Given the description of an element on the screen output the (x, y) to click on. 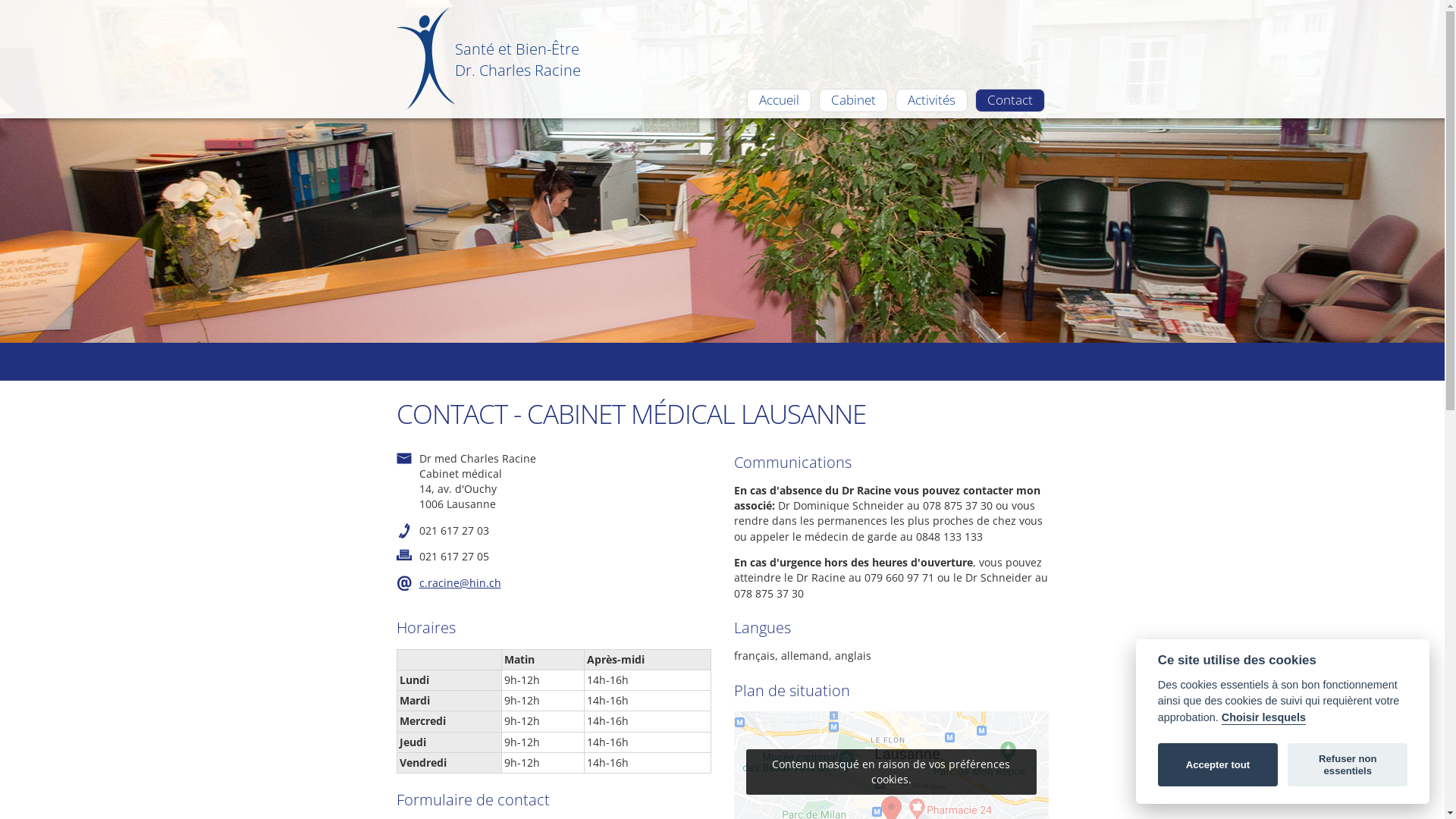
Choisir lesquels Element type: text (1263, 717)
Accueil Element type: text (778, 100)
Refuser non essentiels Element type: text (1347, 765)
Contact Element type: text (1009, 100)
Cabinet Element type: text (853, 100)
c.racine@hin.ch Element type: text (459, 582)
Accepter tout Element type: text (1217, 765)
